Given the description of an element on the screen output the (x, y) to click on. 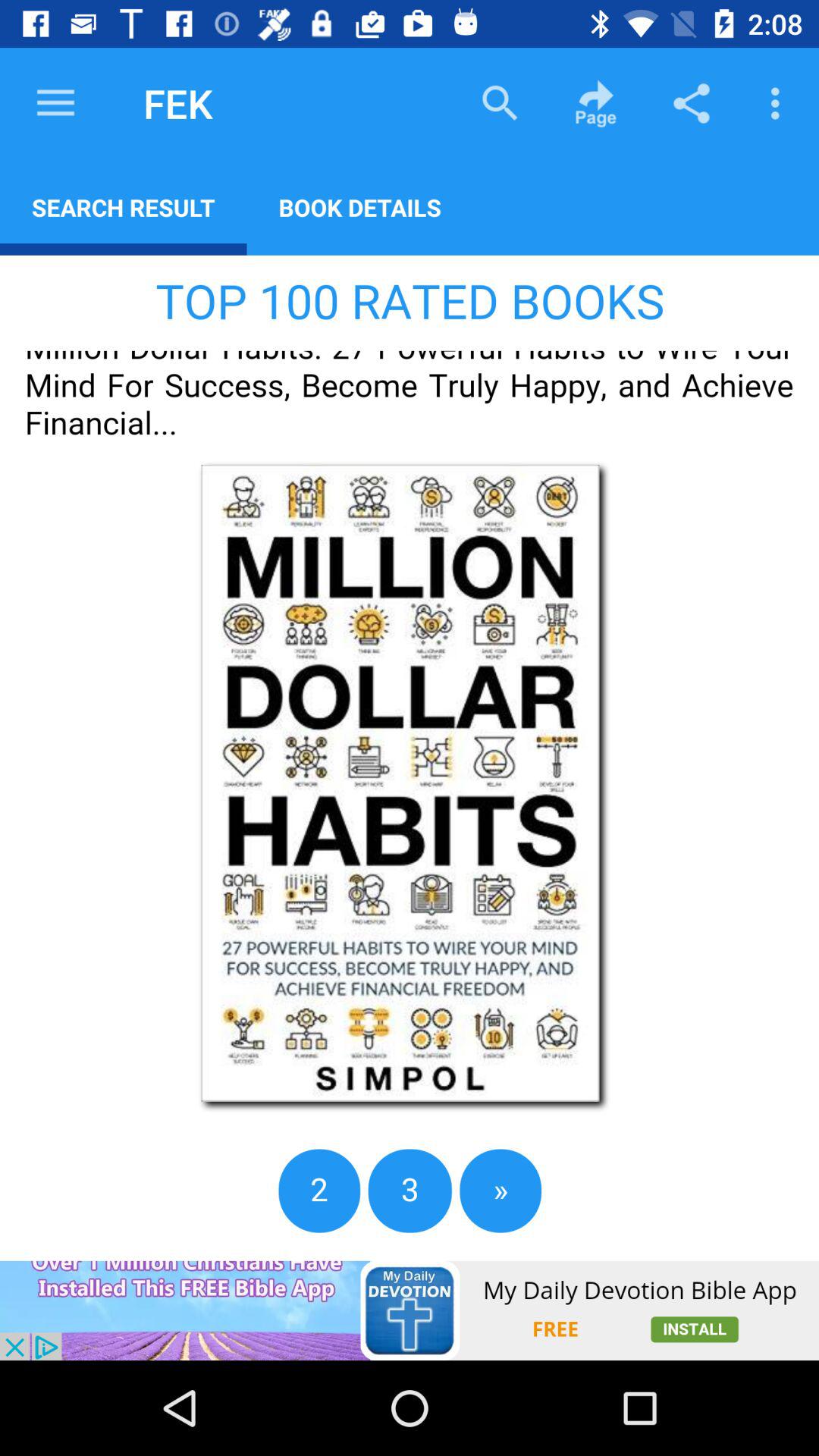
view next item (409, 757)
